Given the description of an element on the screen output the (x, y) to click on. 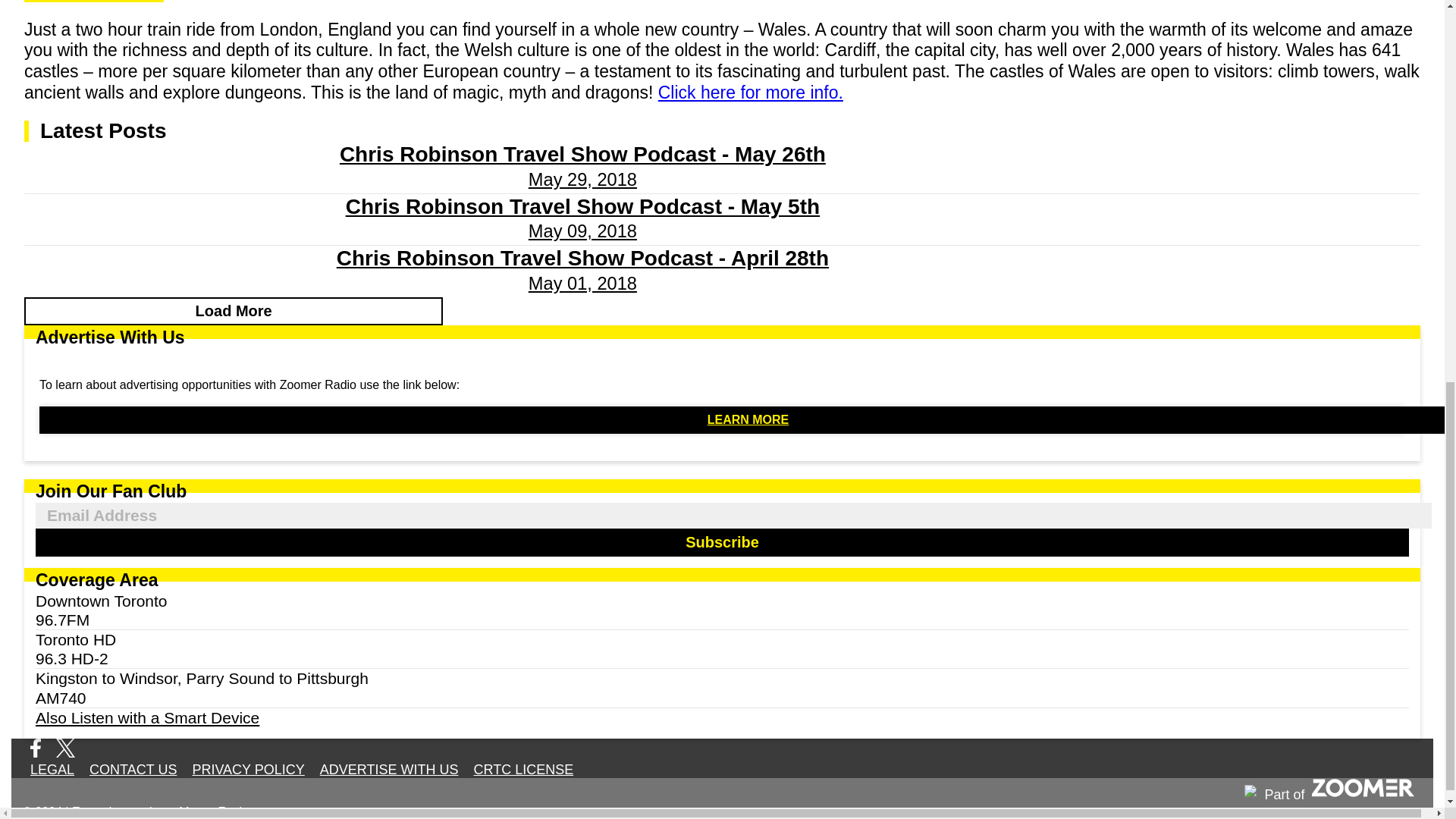
Click here for more info. (750, 92)
